Given the description of an element on the screen output the (x, y) to click on. 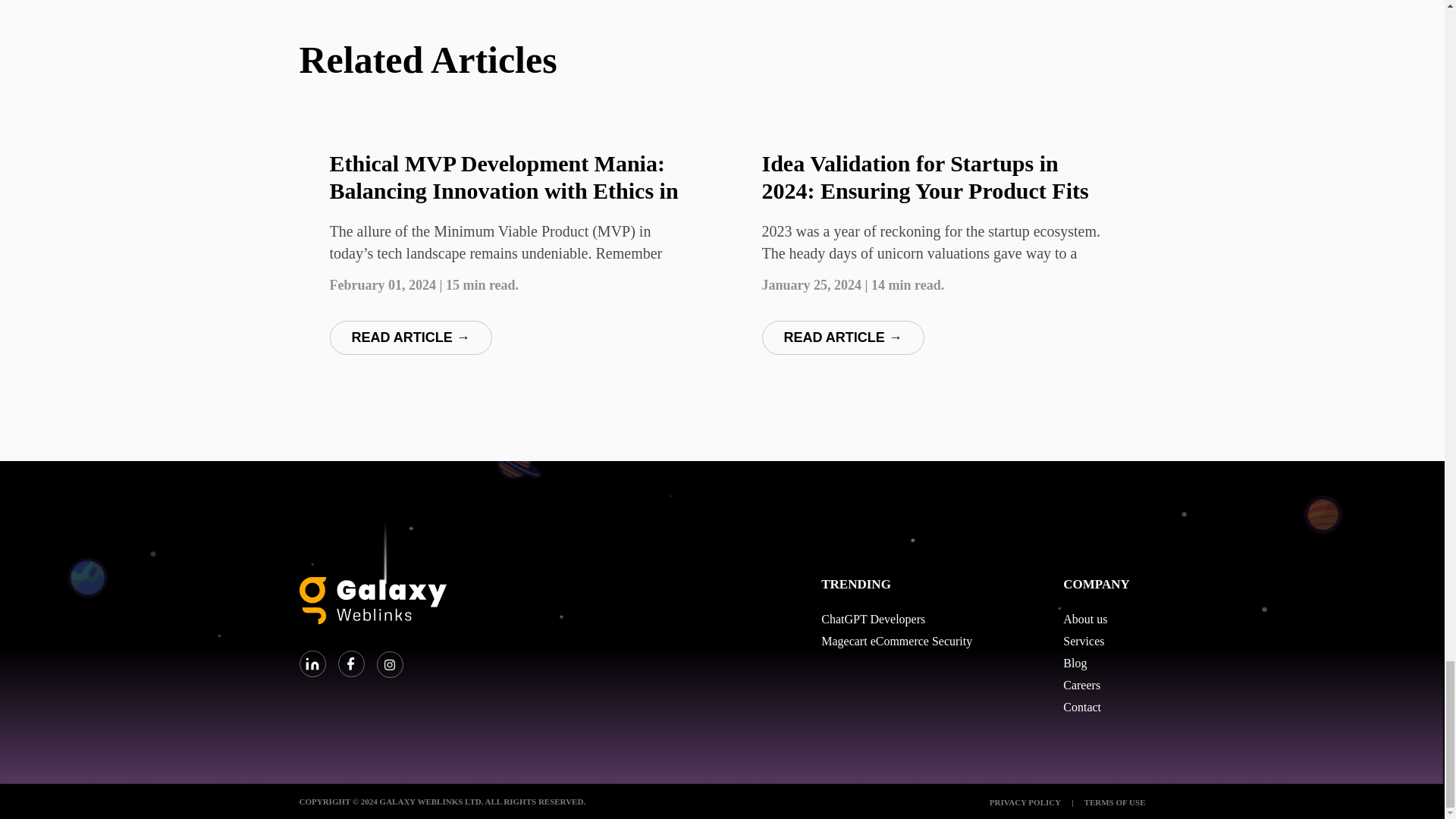
Instagram (389, 664)
LinkedIn (311, 663)
